Given the description of an element on the screen output the (x, y) to click on. 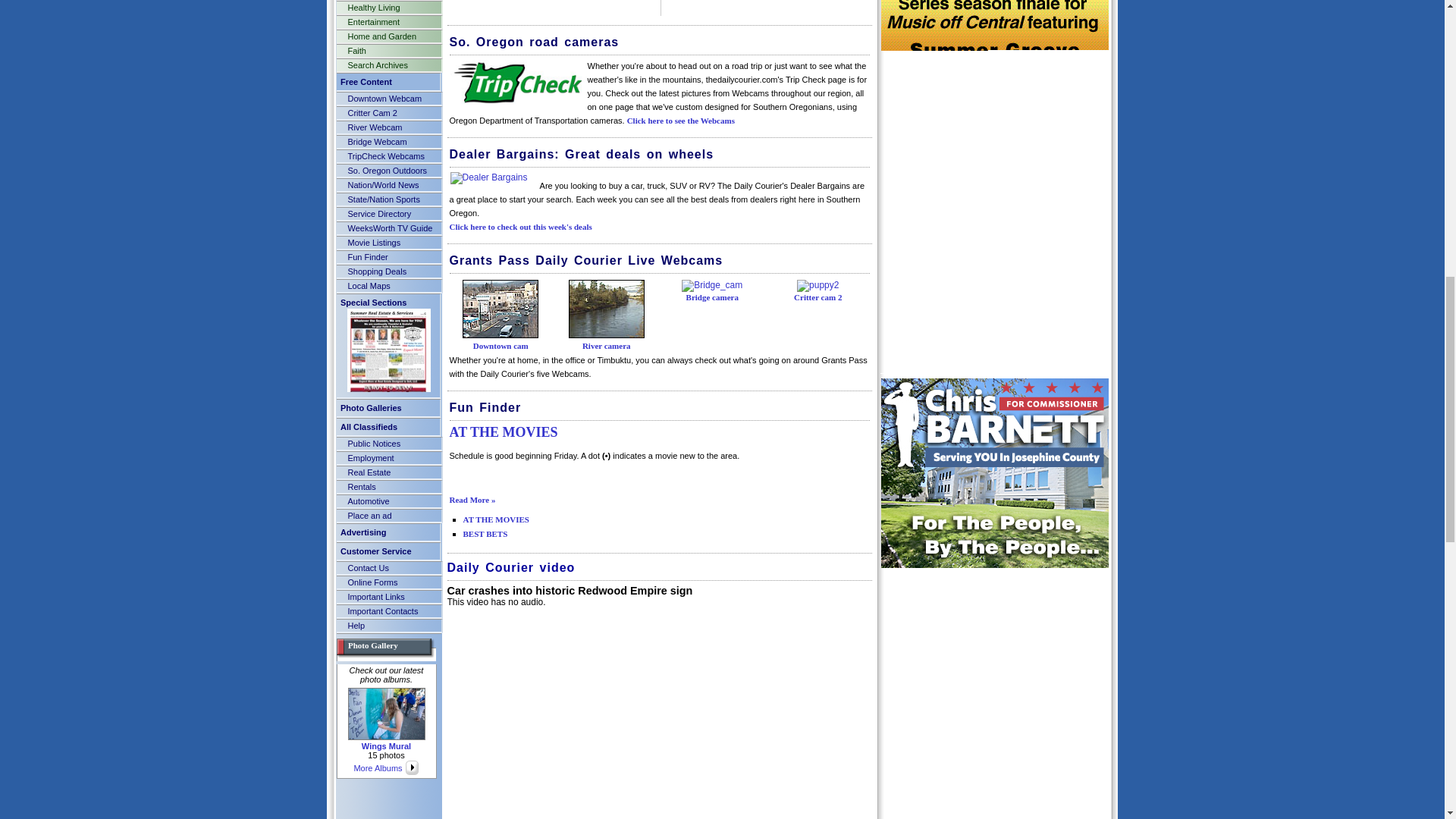
Downtown Webcam (388, 98)
Home and Garden (388, 36)
Search Archives (388, 64)
River Webcam (388, 127)
So. Oregon Outdoors (388, 170)
Critter Cam 2 (388, 112)
TripCheck Webcams (388, 155)
Healthy Living (388, 7)
Faith (388, 50)
Bridge Webcam (388, 141)
